Given the description of an element on the screen output the (x, y) to click on. 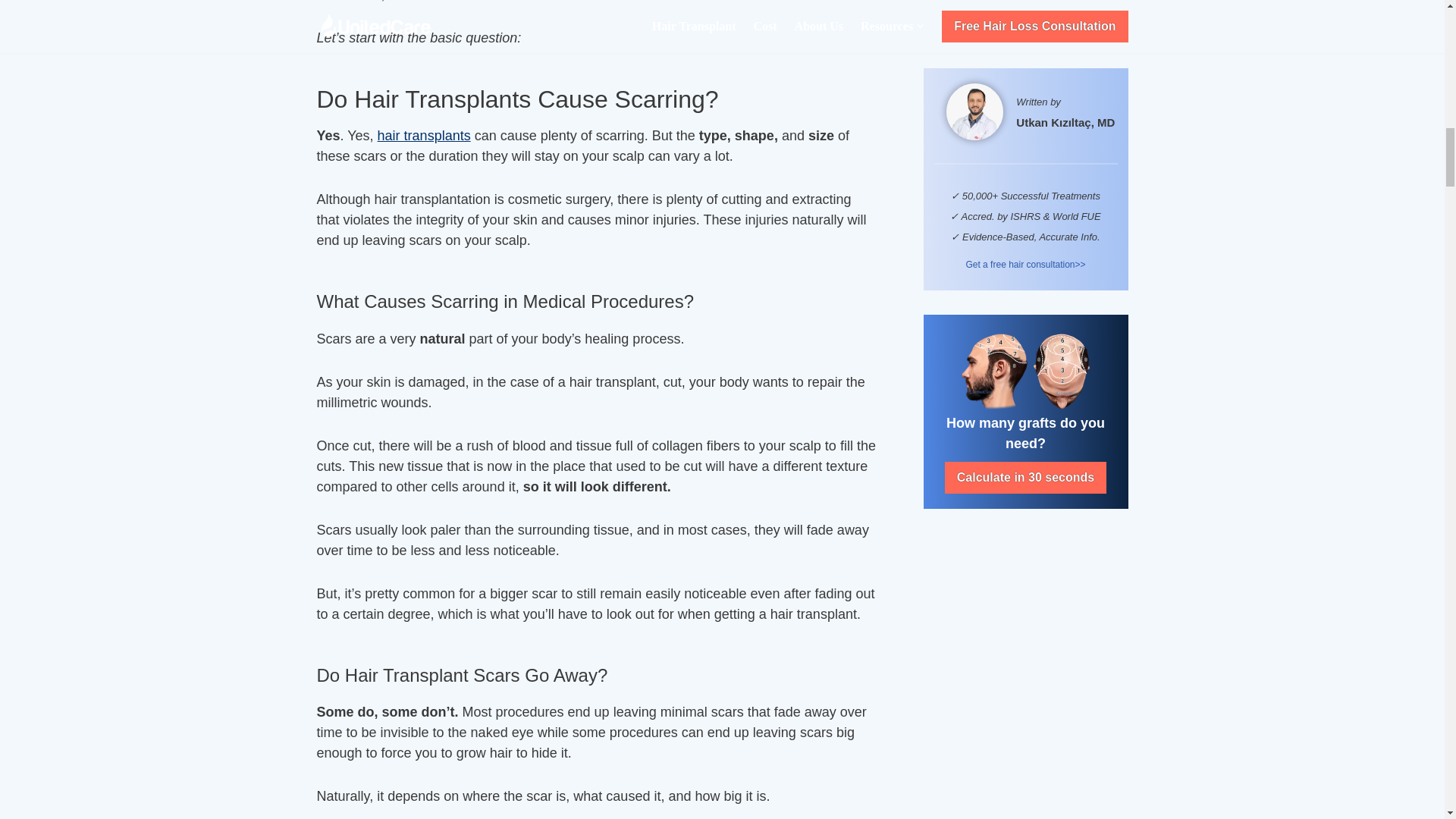
hair transplants (423, 135)
